Given the description of an element on the screen output the (x, y) to click on. 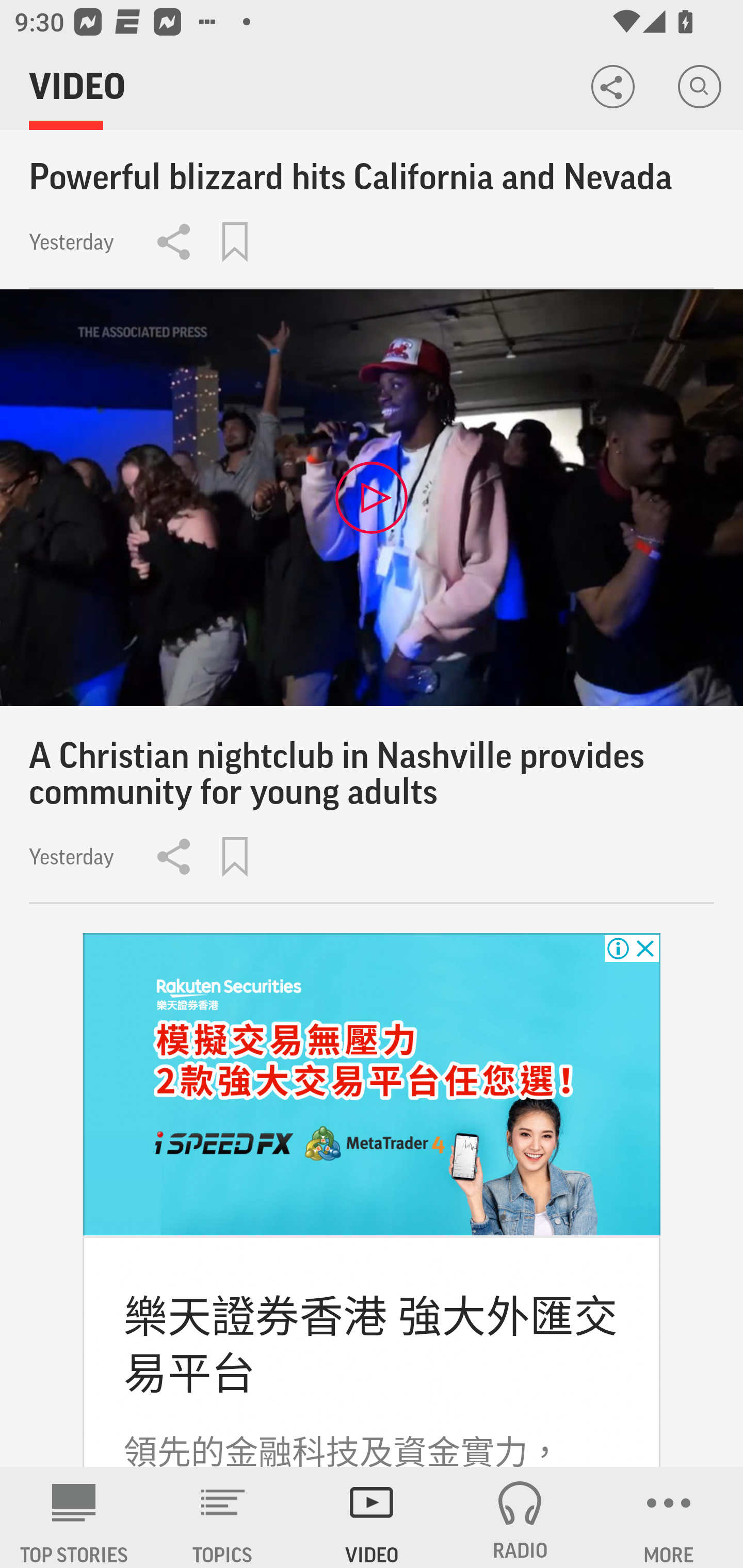
樂天證券香港 強大外匯交 易平台 樂天證券香港 強大外匯交 易平台 (370, 1345)
AP News TOP STORIES (74, 1517)
TOPICS (222, 1517)
VIDEO (371, 1517)
RADIO (519, 1517)
MORE (668, 1517)
